Given the description of an element on the screen output the (x, y) to click on. 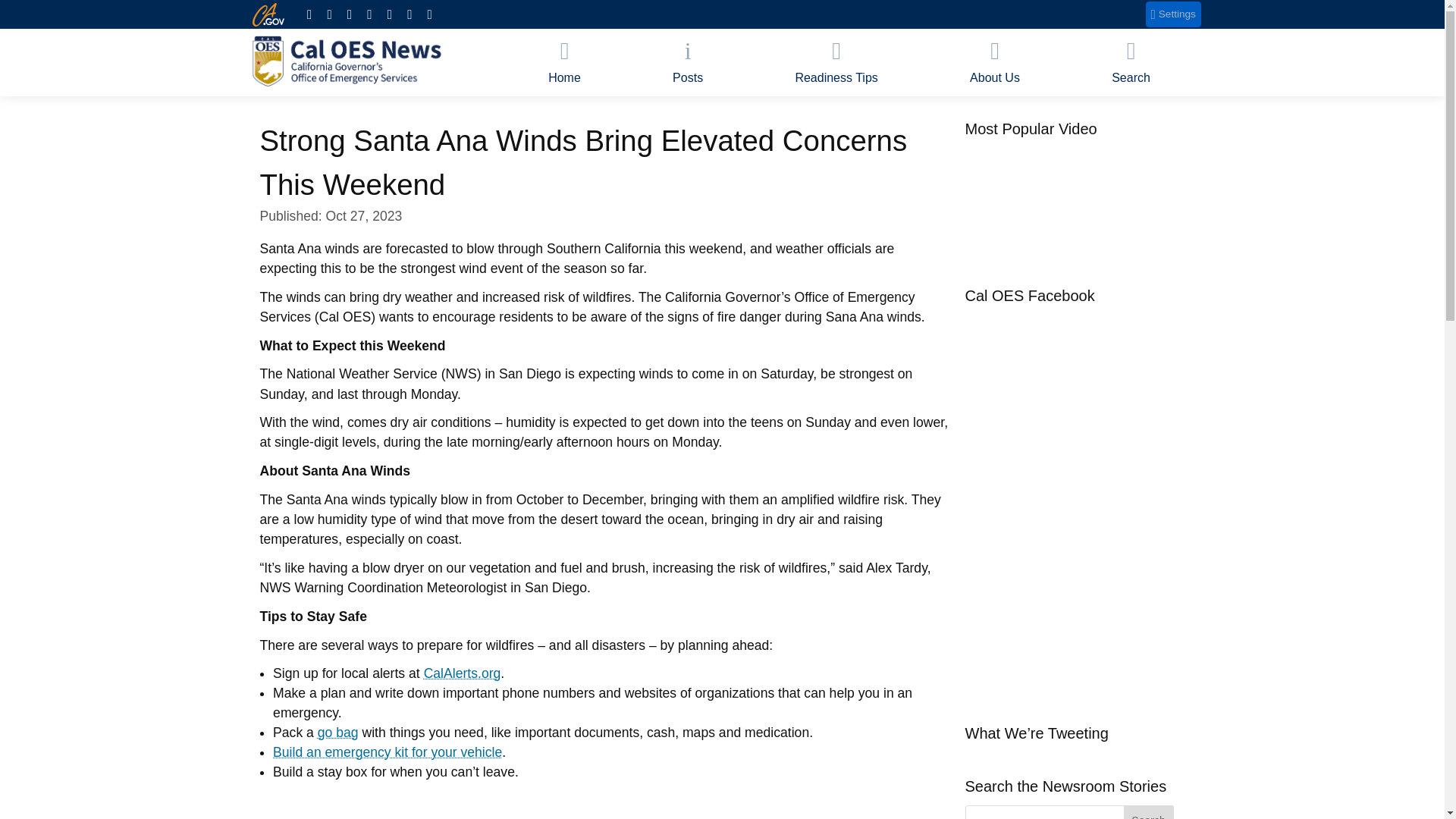
CA.gov website (267, 14)
Posts (687, 62)
About Us (994, 62)
Search (1148, 812)
Home (564, 62)
CalAlerts.org (461, 672)
Build an emergency kit for your vehicle (387, 752)
Readiness Tips (836, 62)
Search (1148, 812)
Settings (1173, 14)
